Given the description of an element on the screen output the (x, y) to click on. 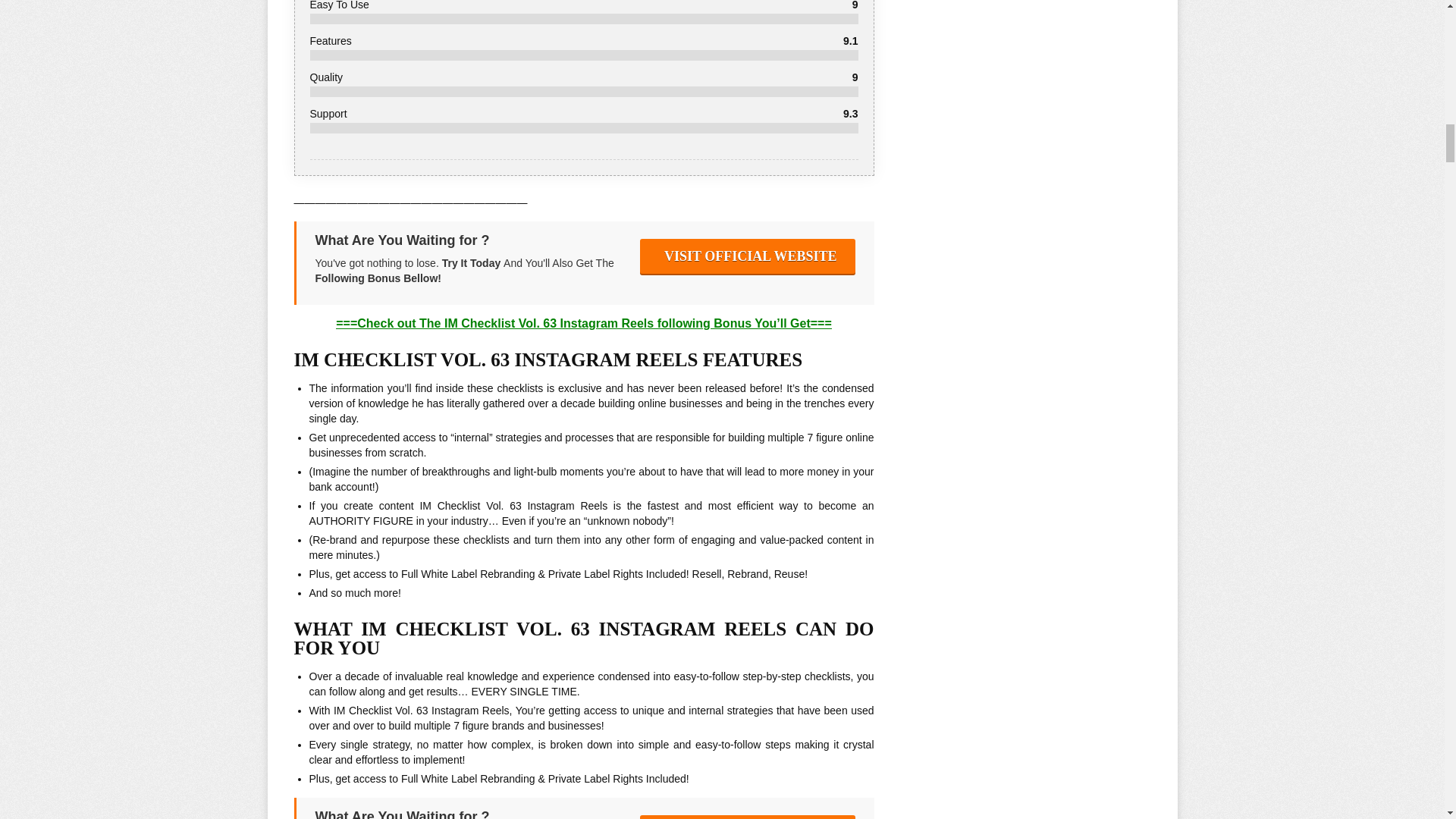
VISIT OFFICIAL WEBSITE (747, 256)
VISIT OFFICIAL WEBSITE (747, 816)
